Given the description of an element on the screen output the (x, y) to click on. 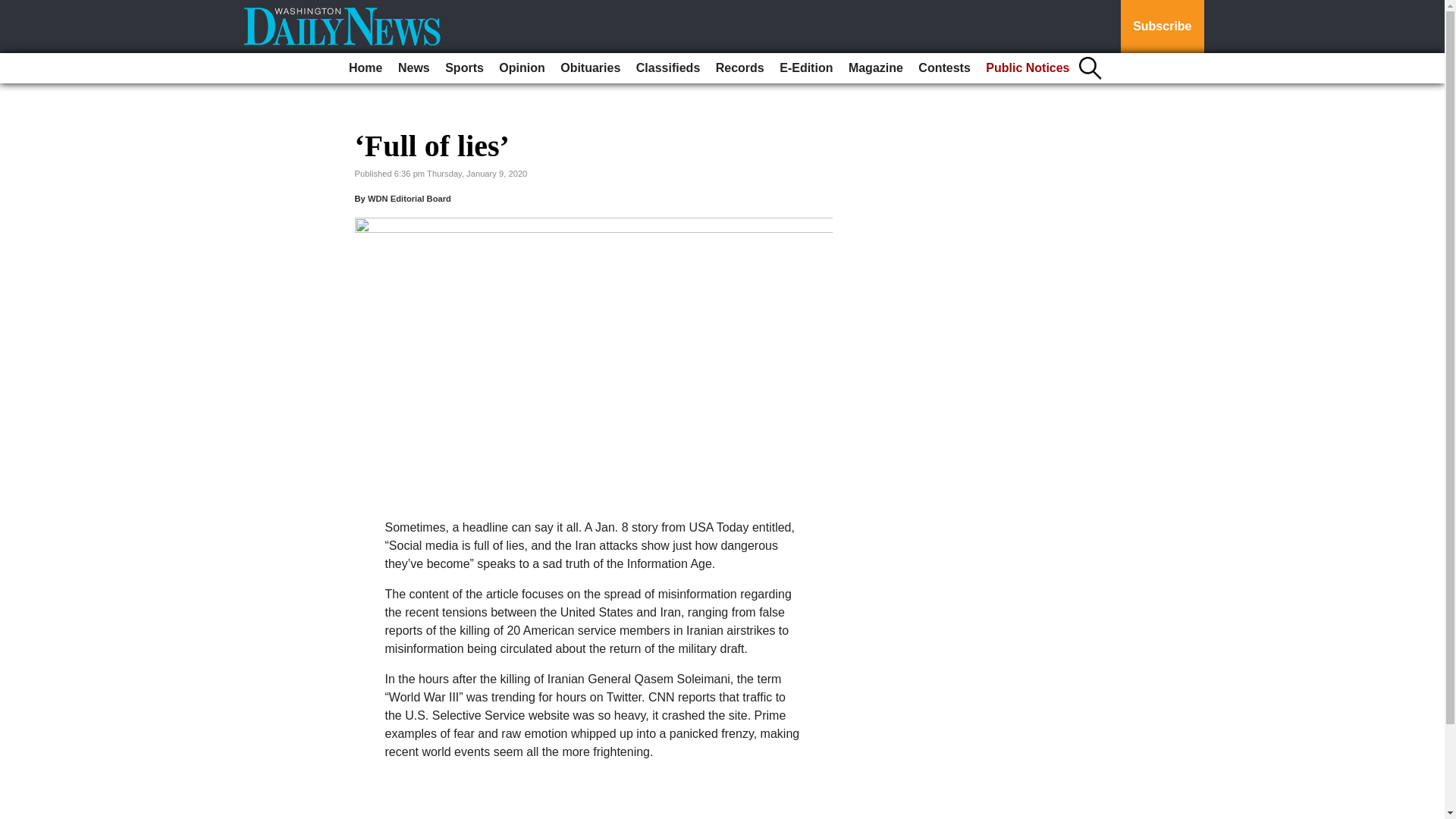
Opinion (521, 68)
Records (740, 68)
WDN Editorial Board (409, 198)
Magazine (875, 68)
News (413, 68)
Public Notices (1027, 68)
Contests (943, 68)
Home (365, 68)
Classifieds (668, 68)
Sports (464, 68)
